Given the description of an element on the screen output the (x, y) to click on. 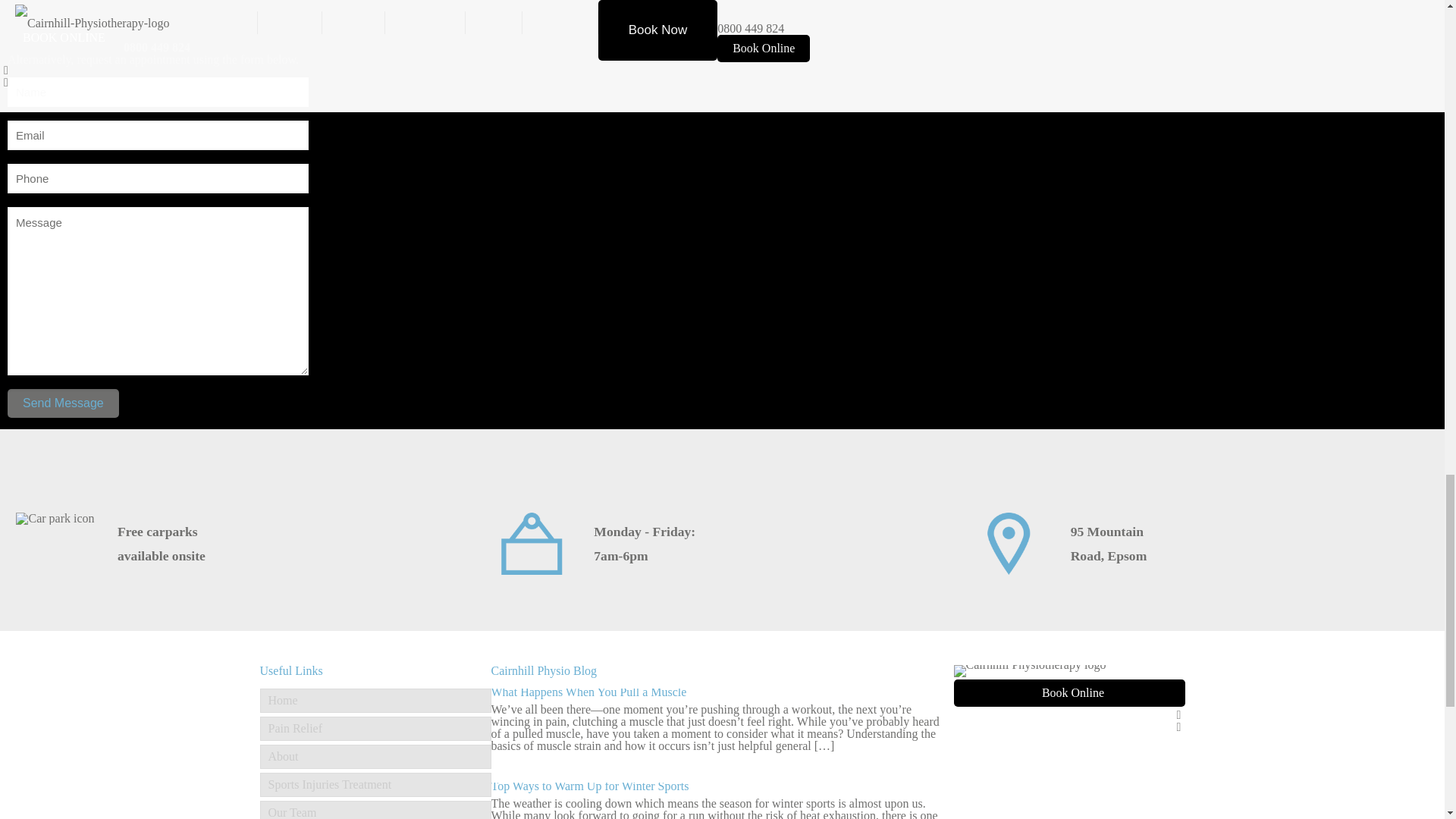
0800 449 824 (156, 47)
Sports Injuries Treatment (374, 784)
Pain Relief (374, 728)
Home (374, 700)
Instagram (1178, 726)
Our Team (374, 809)
BOOK ONLINE (63, 37)
Send Message (63, 403)
Facebook (1178, 714)
About (374, 756)
Send Message (63, 403)
